Given the description of an element on the screen output the (x, y) to click on. 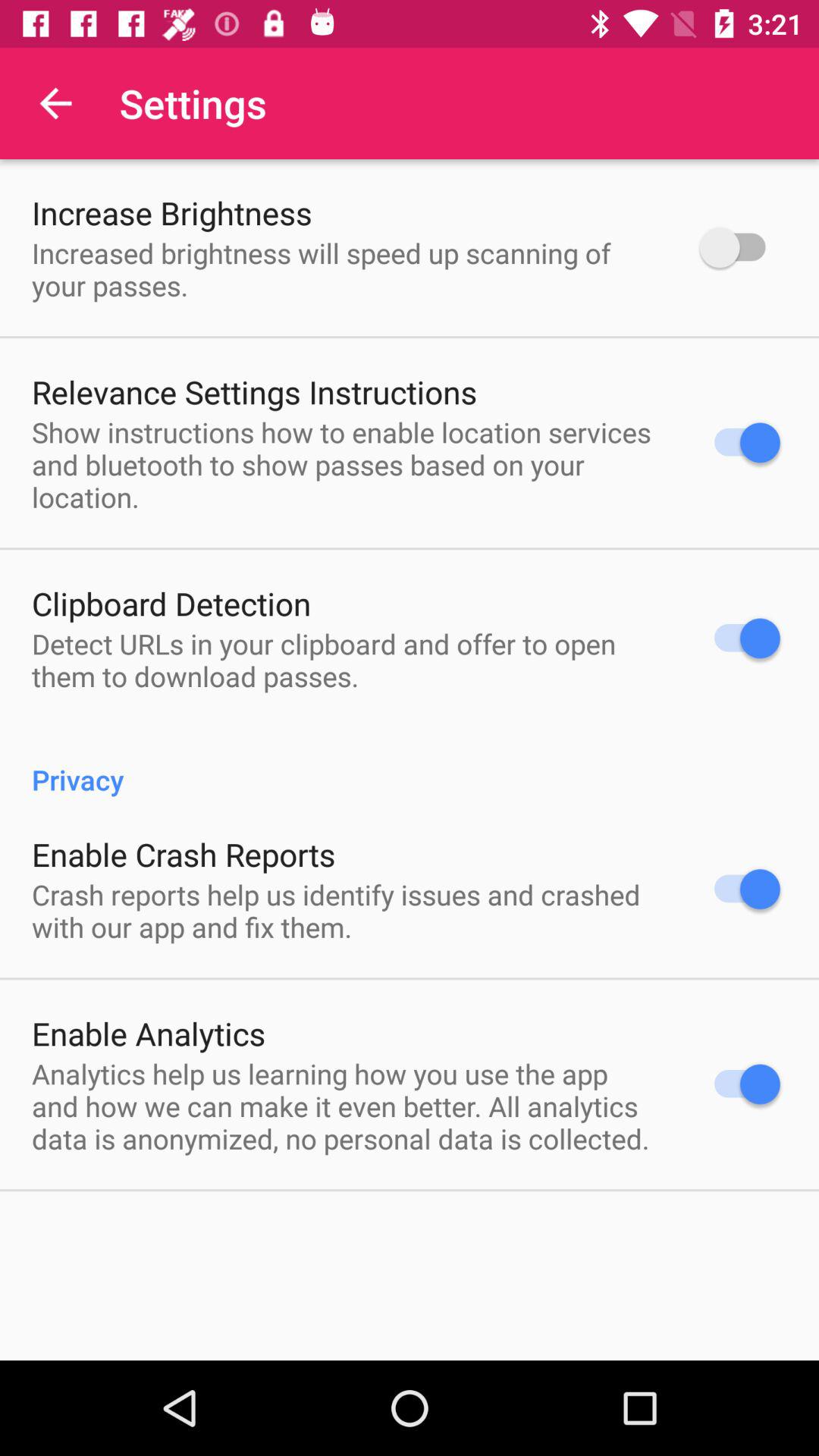
tap the detect urls in item (345, 660)
